Given the description of an element on the screen output the (x, y) to click on. 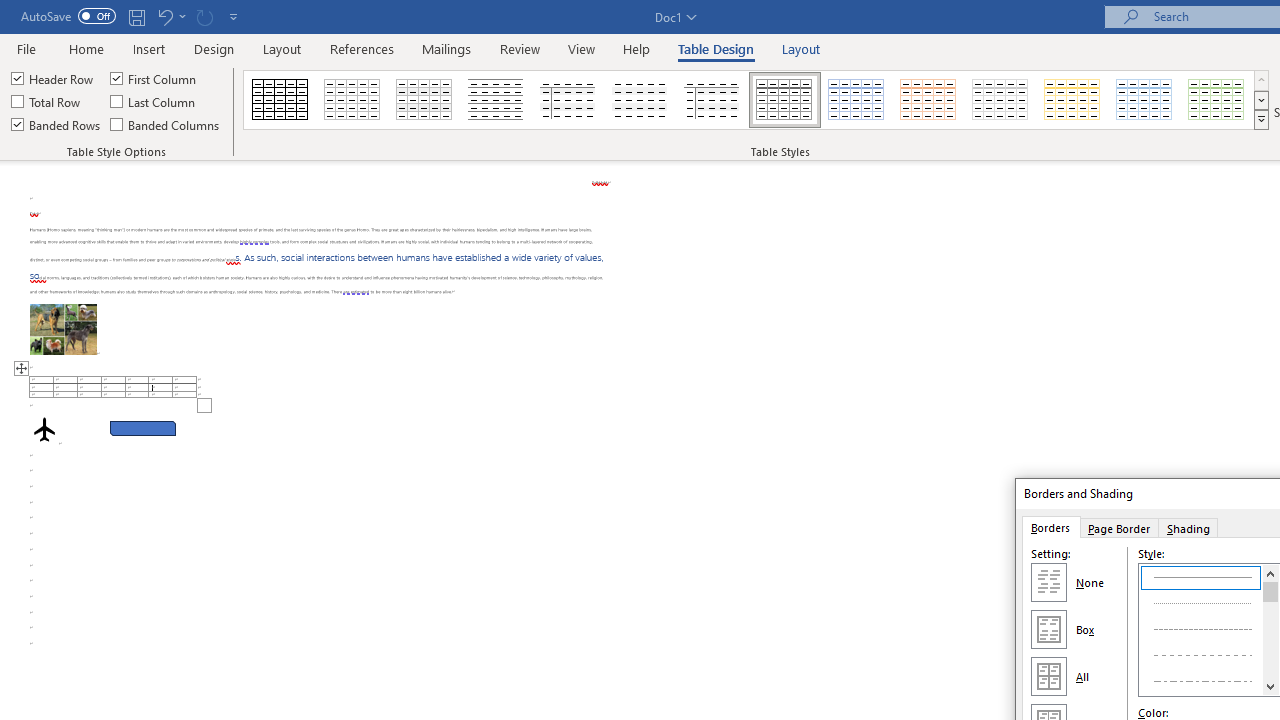
Table Design (715, 48)
Plain Table 4 (641, 100)
AutomationID: 37 (1270, 629)
Undo Row Height Spinner (164, 15)
Row up (1261, 79)
Plain Table 1 (424, 100)
Shading (1188, 527)
Grid Table 1 Light - Accent 4 (1072, 100)
Page down (1270, 639)
None (1048, 582)
